Given the description of an element on the screen output the (x, y) to click on. 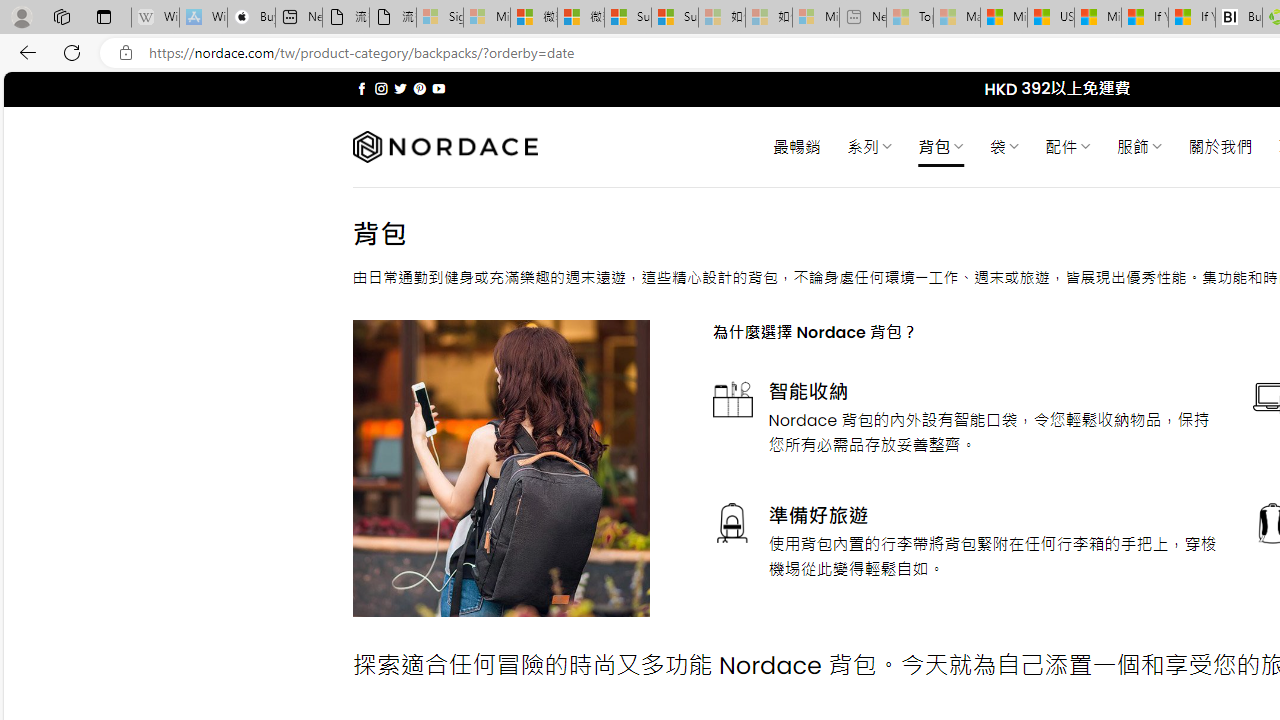
Follow on Facebook (361, 88)
